Given the description of an element on the screen output the (x, y) to click on. 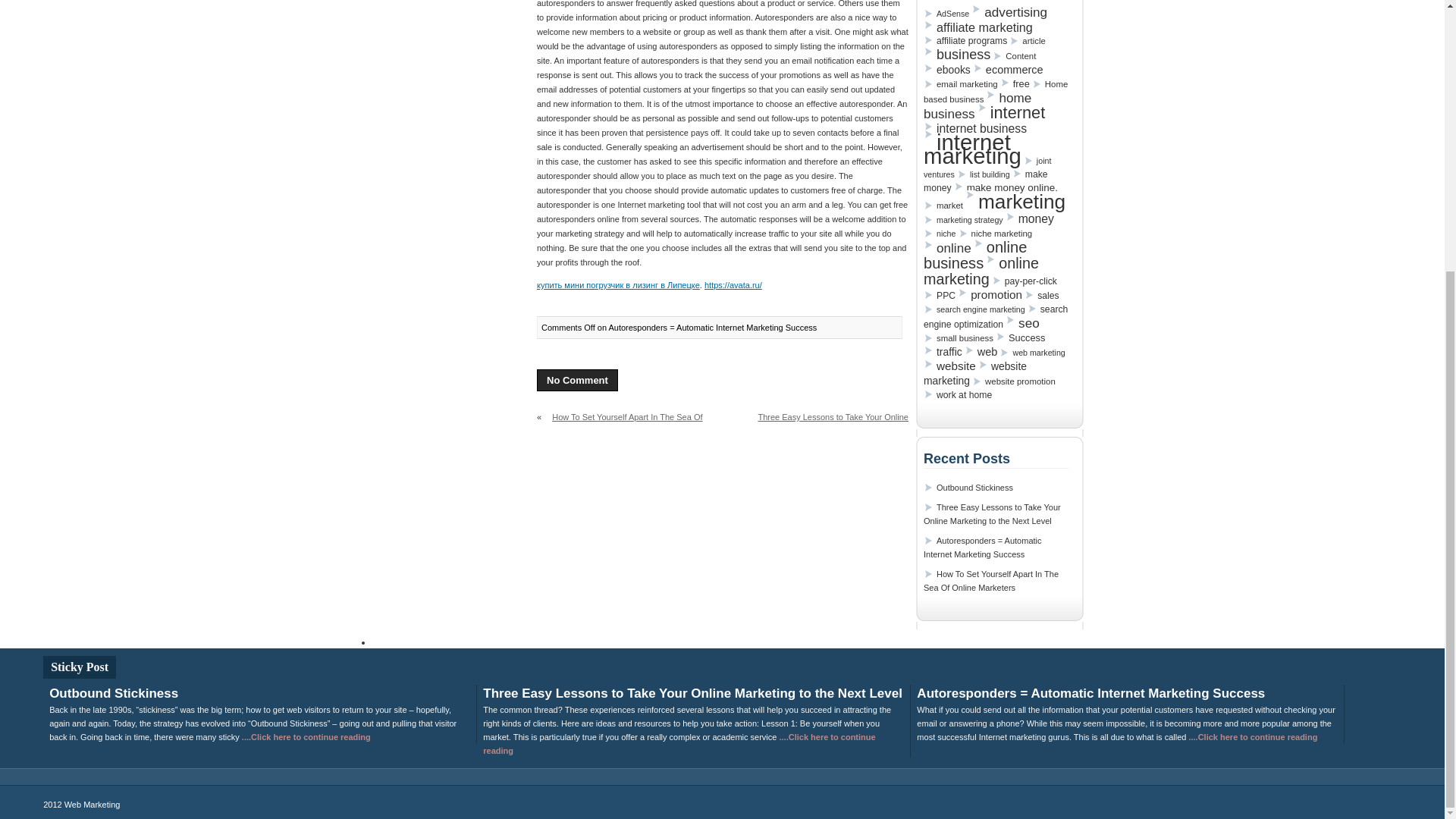
business (956, 54)
make money (985, 180)
niche (939, 233)
internet business (974, 128)
make money online. (1005, 187)
marketing (1015, 201)
affiliate programs (965, 40)
money (1030, 218)
20 topics (1008, 12)
article (1027, 40)
ecommerce (1007, 69)
affiliate marketing (977, 27)
How To Set Yourself Apart In The Sea Of Online Marketers (620, 422)
advertising (1008, 12)
home business (976, 105)
